Given the description of an element on the screen output the (x, y) to click on. 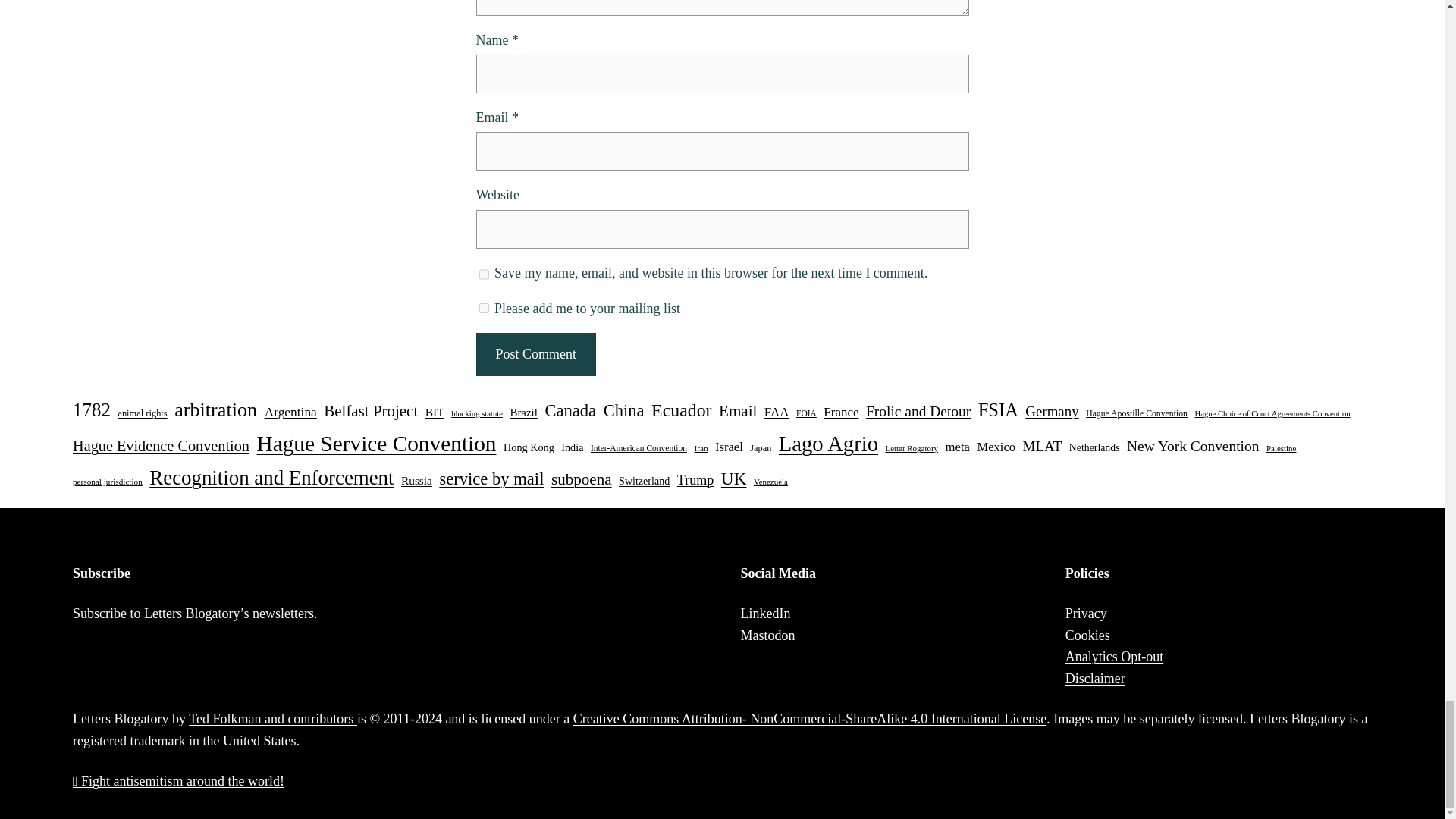
Post Comment (535, 353)
animal rights (142, 413)
1782 (91, 409)
1 (484, 307)
Post Comment (535, 353)
